Given the description of an element on the screen output the (x, y) to click on. 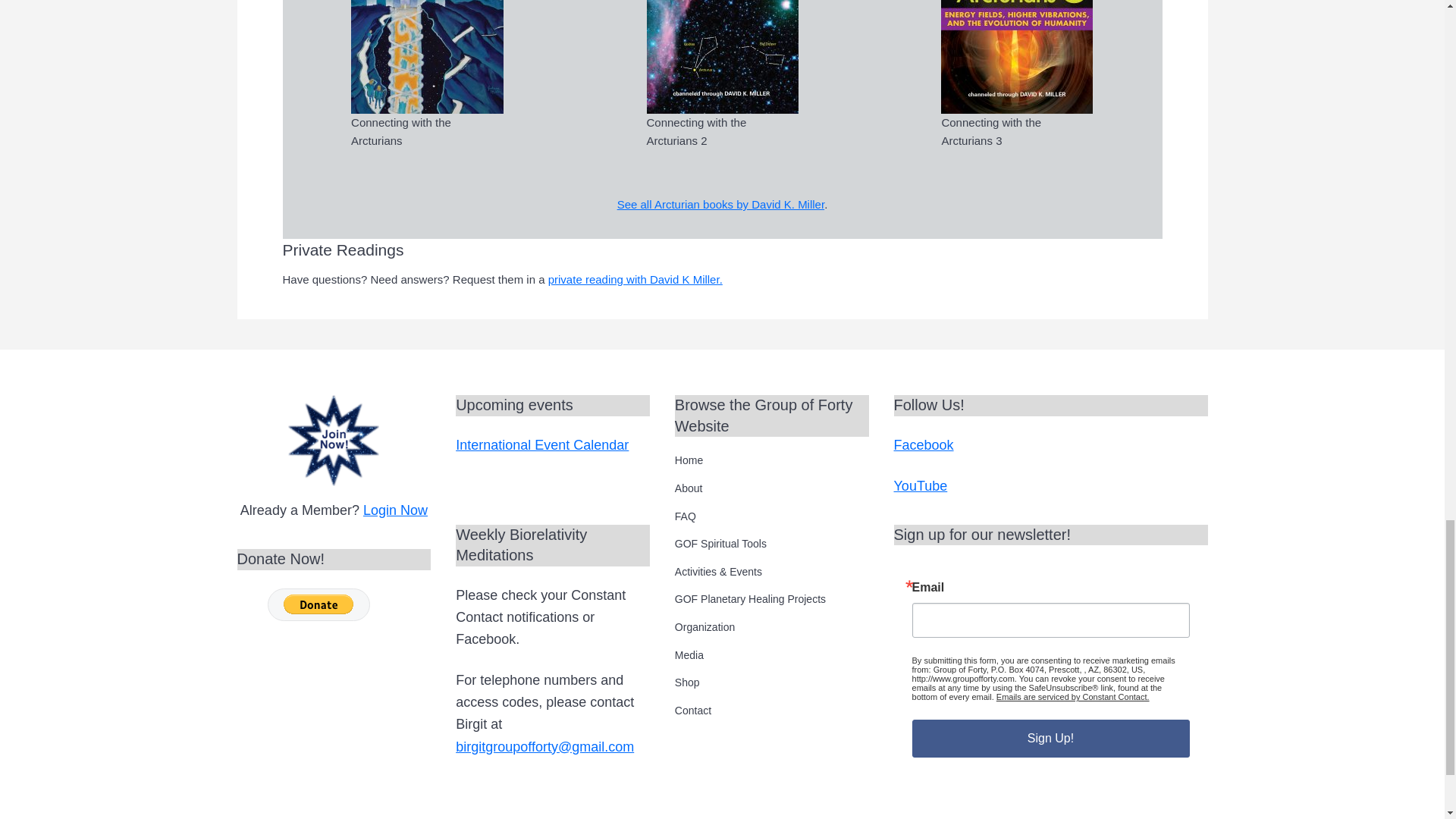
International Event Calendar (541, 444)
See all Arcturian books by David K. Miller (720, 204)
GOF Planetary Healing Projects (772, 598)
private reading with David K Miller. (635, 278)
Login Now (395, 509)
About (772, 488)
Home (772, 460)
FAQ (772, 516)
GOF Spiritual Tools (772, 543)
Organization (772, 626)
